Given the description of an element on the screen output the (x, y) to click on. 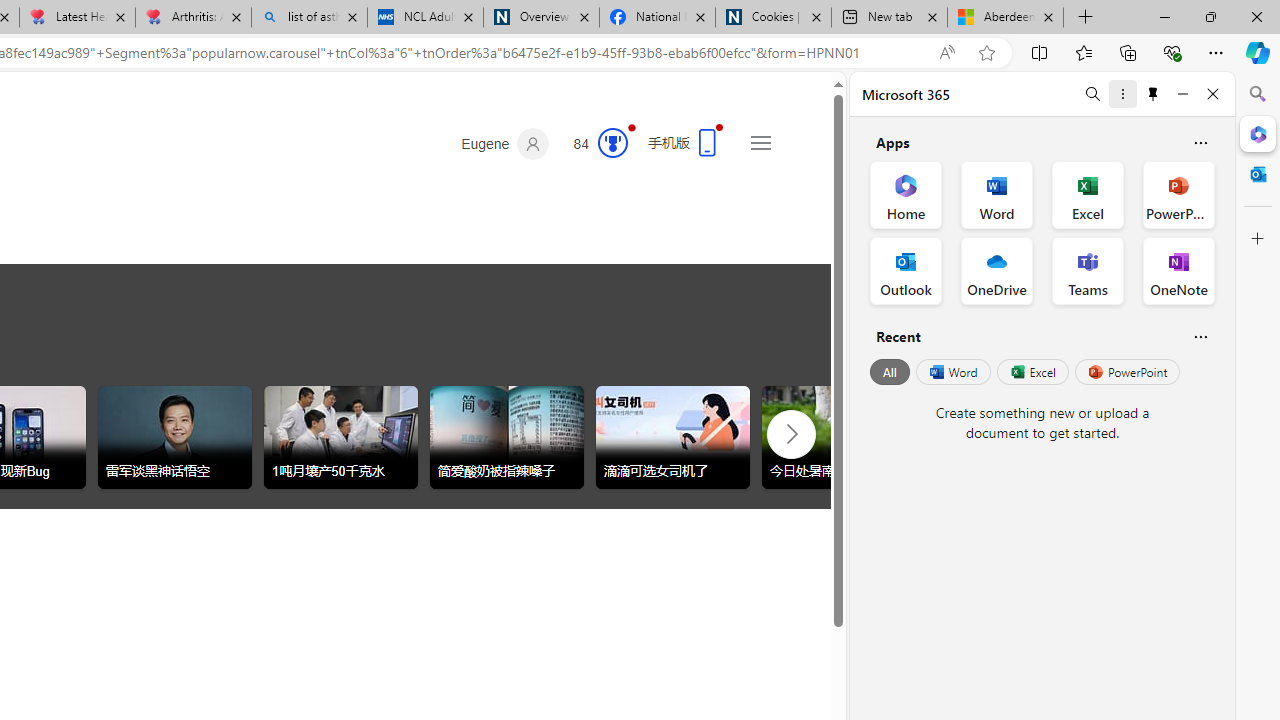
Home Office App (906, 194)
Unpin side pane (1153, 93)
Arthritis: Ask Health Professionals (192, 17)
More options (1122, 93)
Aberdeen, Hong Kong SAR hourly forecast | Microsoft Weather (1005, 17)
NCL Adult Asthma Inhaler Choice Guideline (424, 17)
Teams Office App (1087, 270)
OneDrive Office App (996, 270)
